Given the description of an element on the screen output the (x, y) to click on. 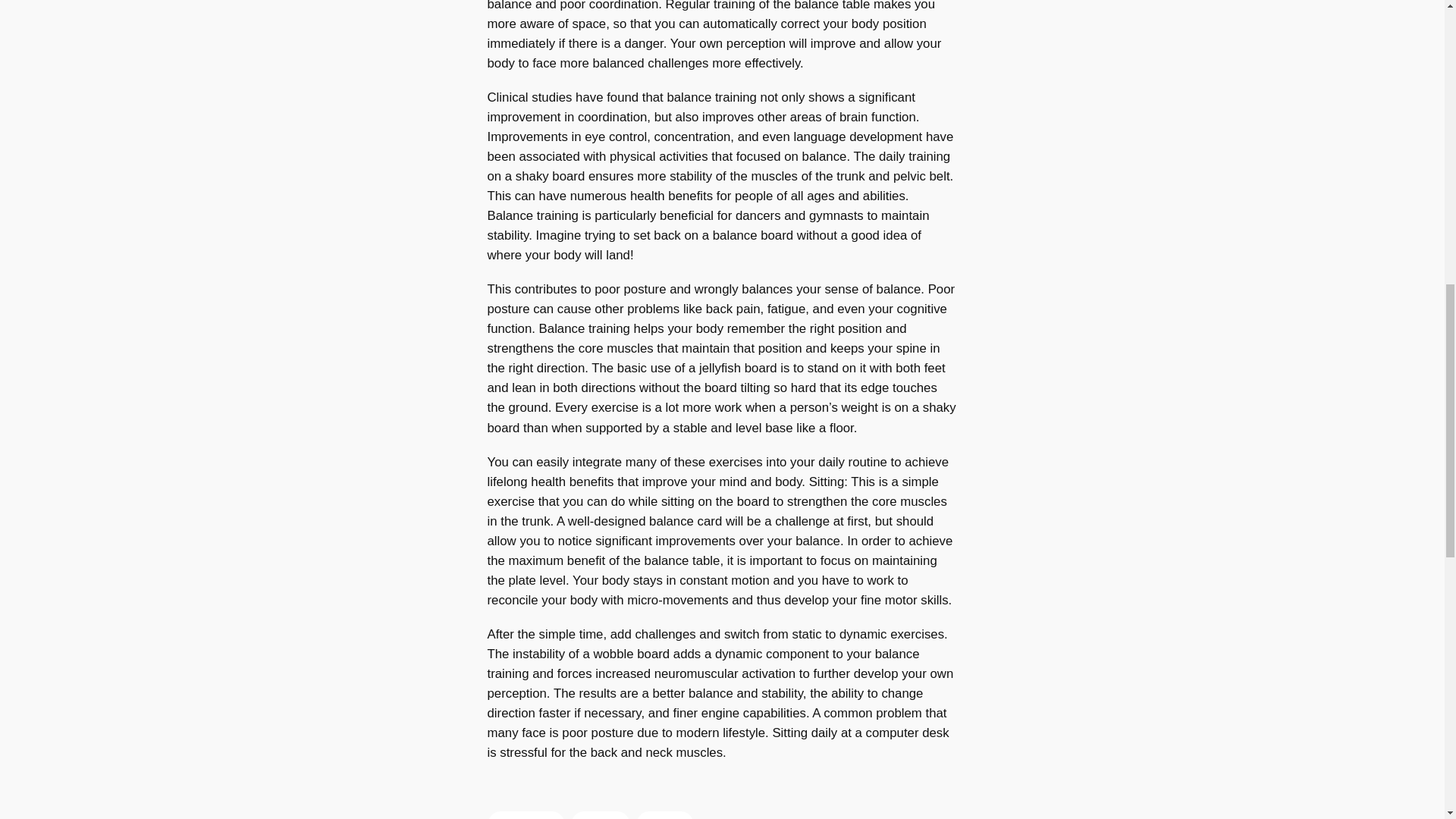
training (664, 815)
balance (600, 815)
advantages (525, 815)
